Given the description of an element on the screen output the (x, y) to click on. 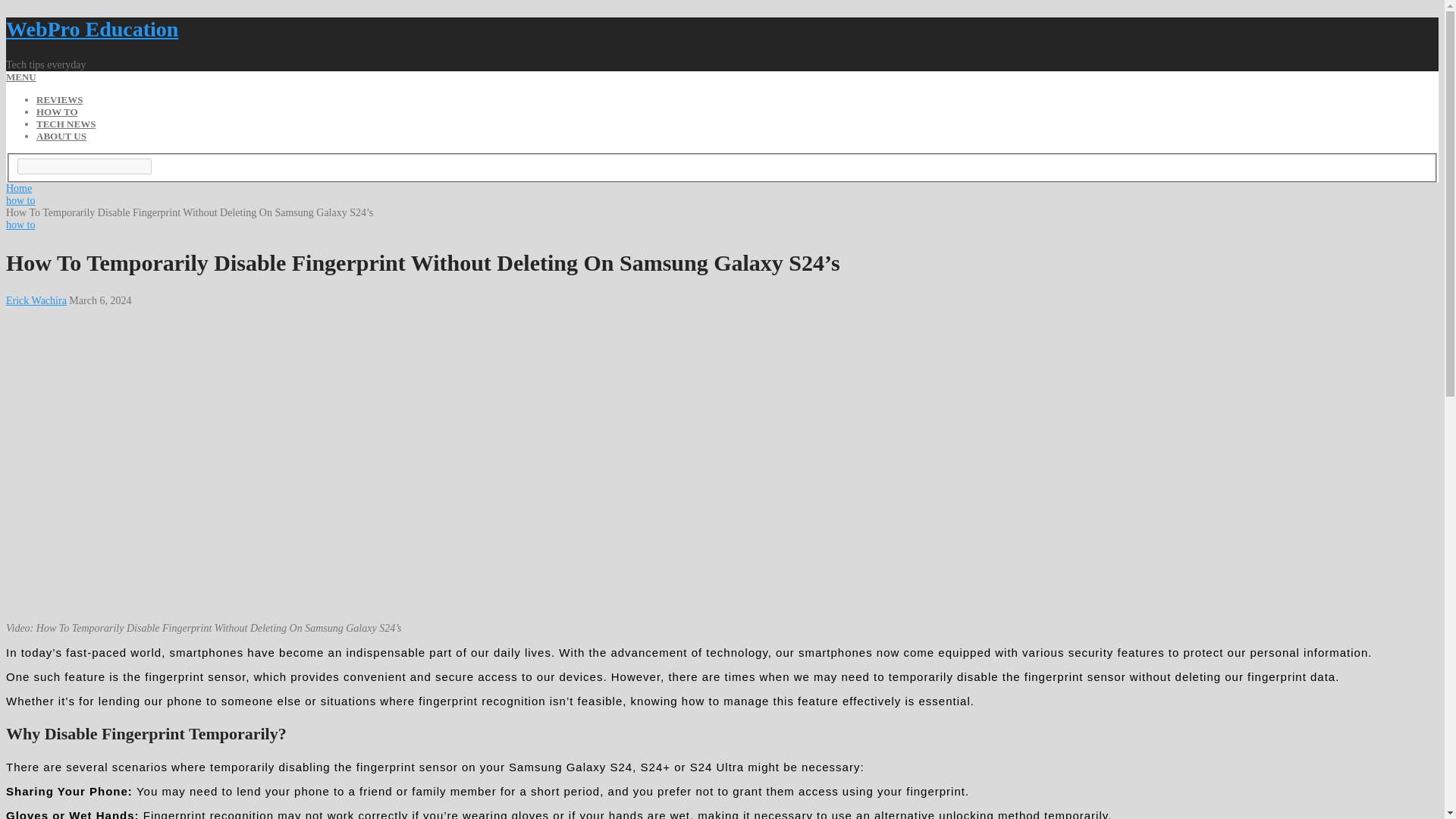
Posts by Erick Wachira (35, 300)
Home (18, 188)
WebPro Education (91, 28)
REVIEWS (59, 99)
MENU (20, 76)
HOW TO (57, 111)
Erick Wachira (35, 300)
how to (19, 200)
View all posts in how to (19, 224)
how to (19, 224)
